Given the description of an element on the screen output the (x, y) to click on. 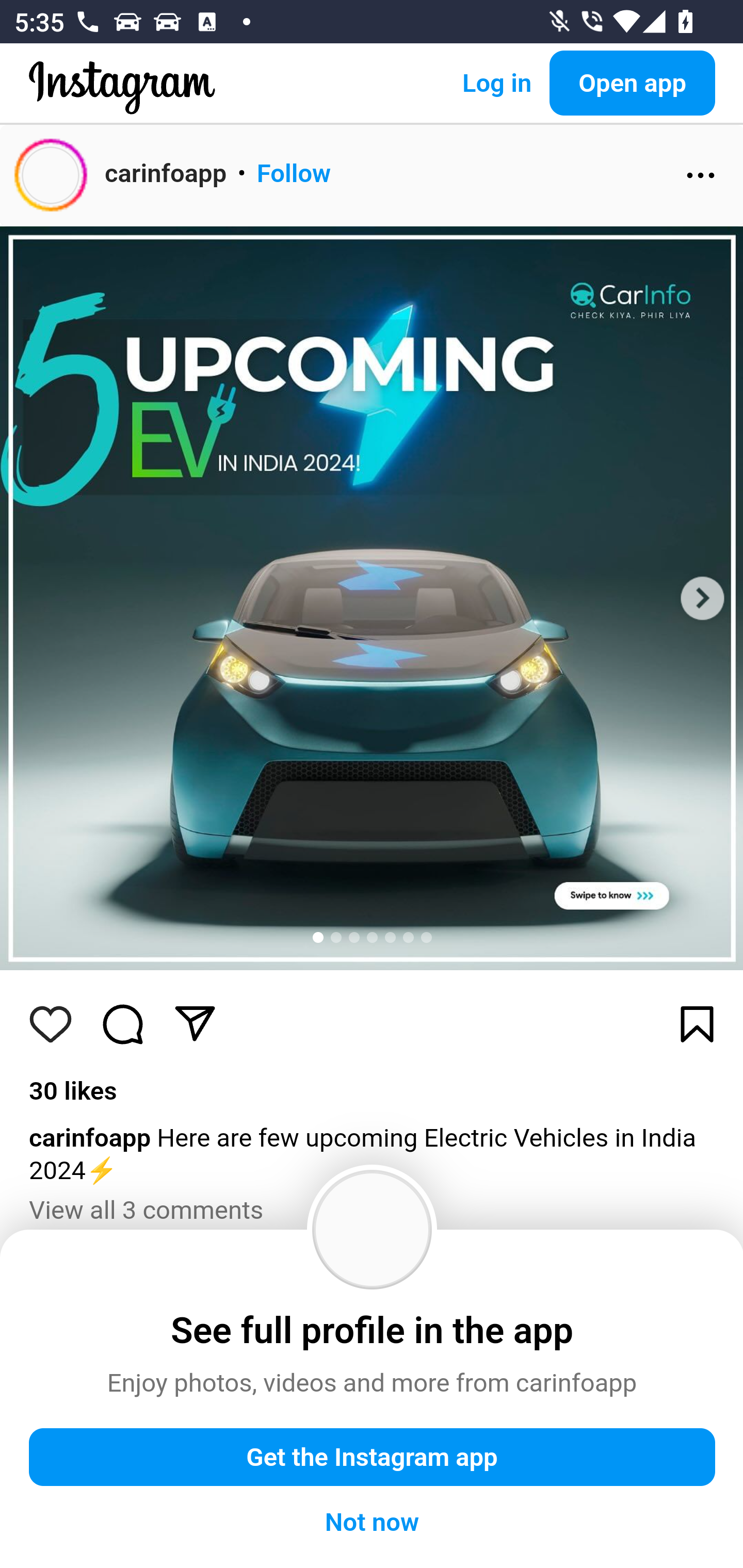
Log in (495, 83)
Open app (632, 83)
Instagram Instagram Instagram Instagram (122, 102)
More options (701, 175)
carinfoapp (165, 173)
Follow (294, 173)
Next (702, 597)
Like (51, 1024)
Comment (123, 1024)
Share Post (195, 1024)
Save (697, 1024)
30 likes 30  likes (72, 1091)
carinfoapp (89, 1138)
View all 3 comments View all  3  comments (145, 1210)
Get the Instagram app (372, 1458)
Not now (372, 1522)
